Given the description of an element on the screen output the (x, y) to click on. 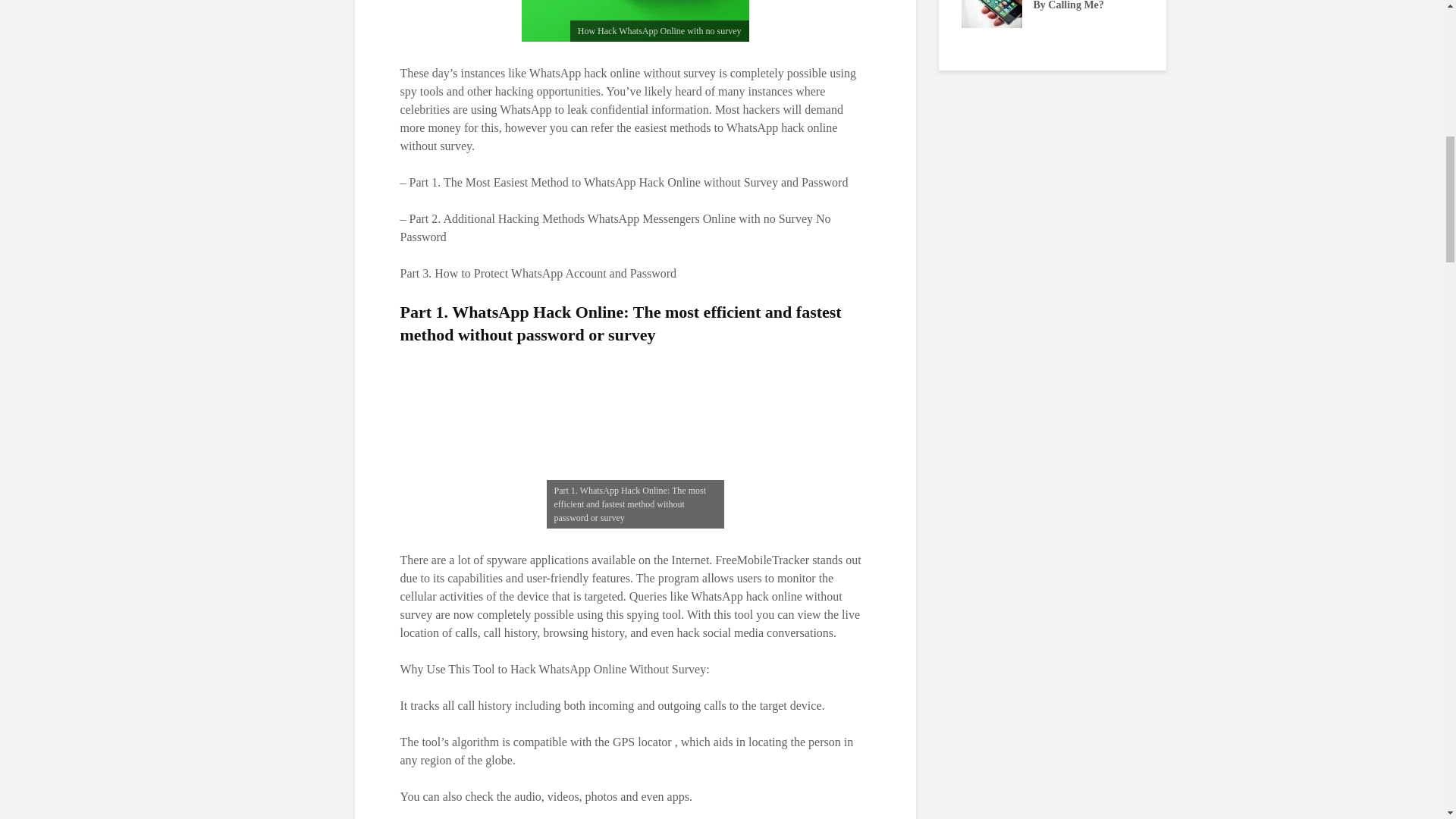
The Most Effective Spy Phone App To Android Cell Phones (1173, 19)
Five Ways To Freely Online Monitor Text Messages (809, 4)
Can I Hack My Phone By Calling Me? (991, 4)
The Most Effective Spy Phone App To Android Cell Phones (627, 19)
